Given the description of an element on the screen output the (x, y) to click on. 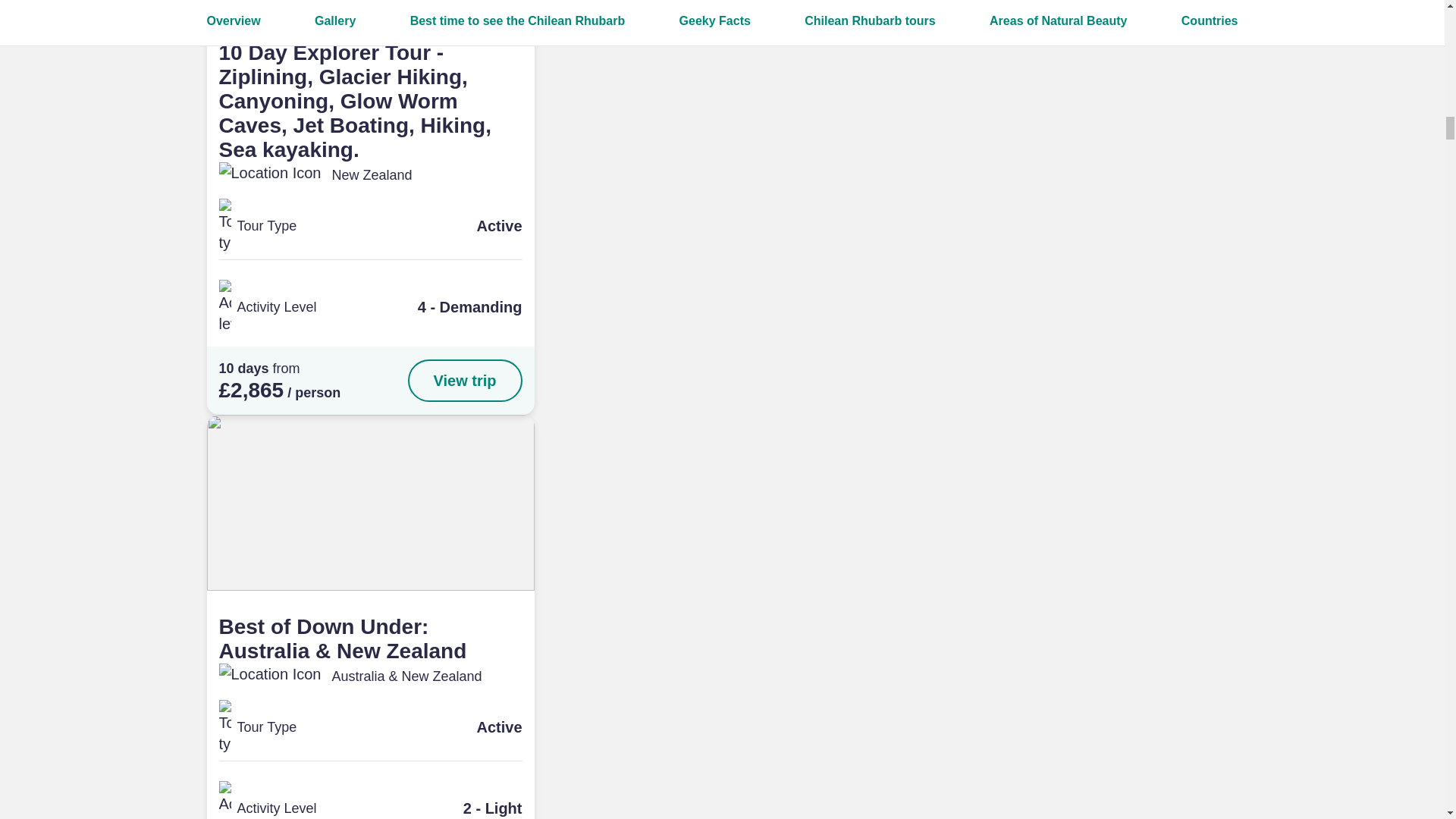
View trip (464, 380)
